Given the description of an element on the screen output the (x, y) to click on. 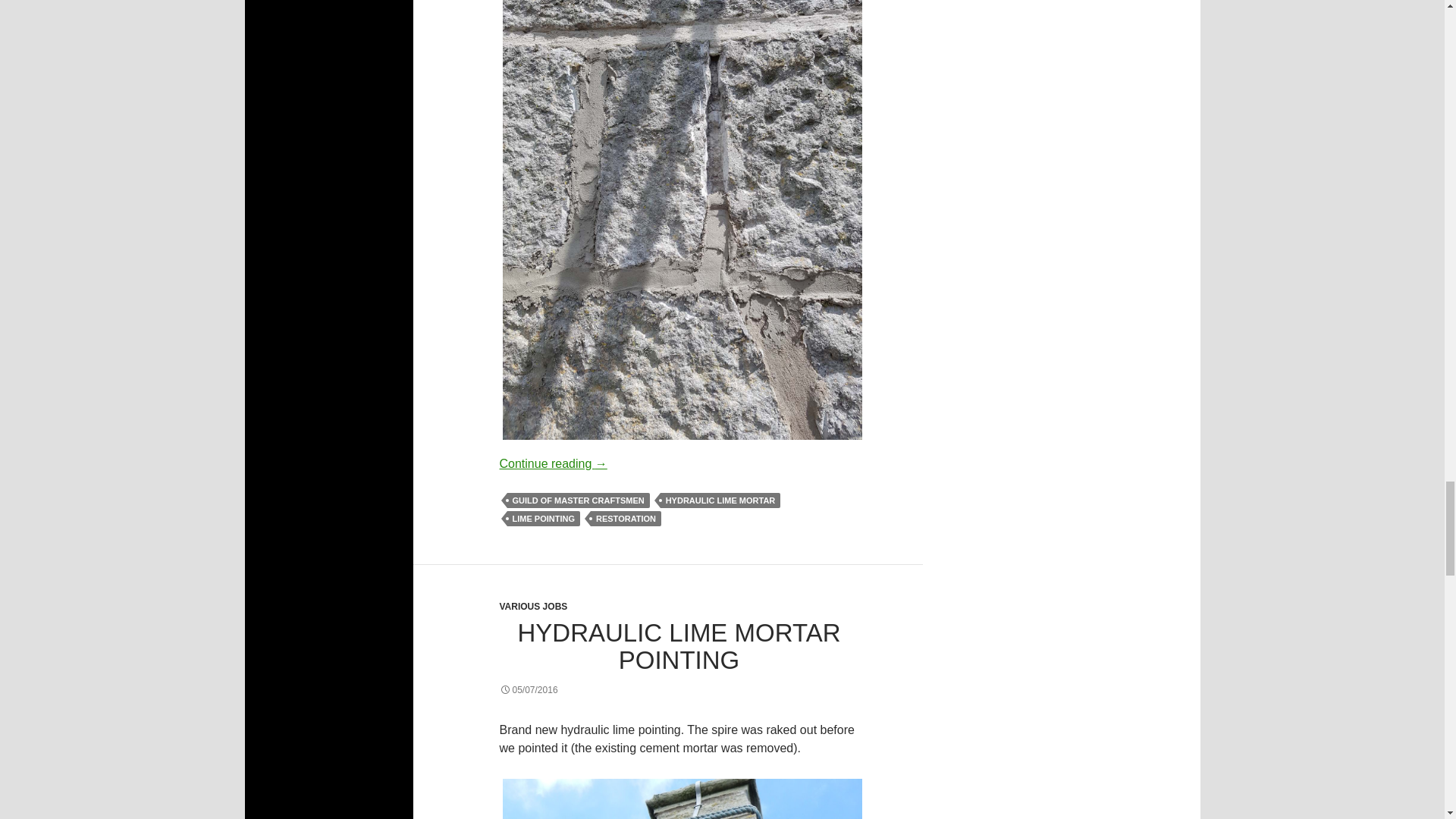
New lime pointing work (681, 797)
Hydraulic lime mortar pointing (679, 797)
